Given the description of an element on the screen output the (x, y) to click on. 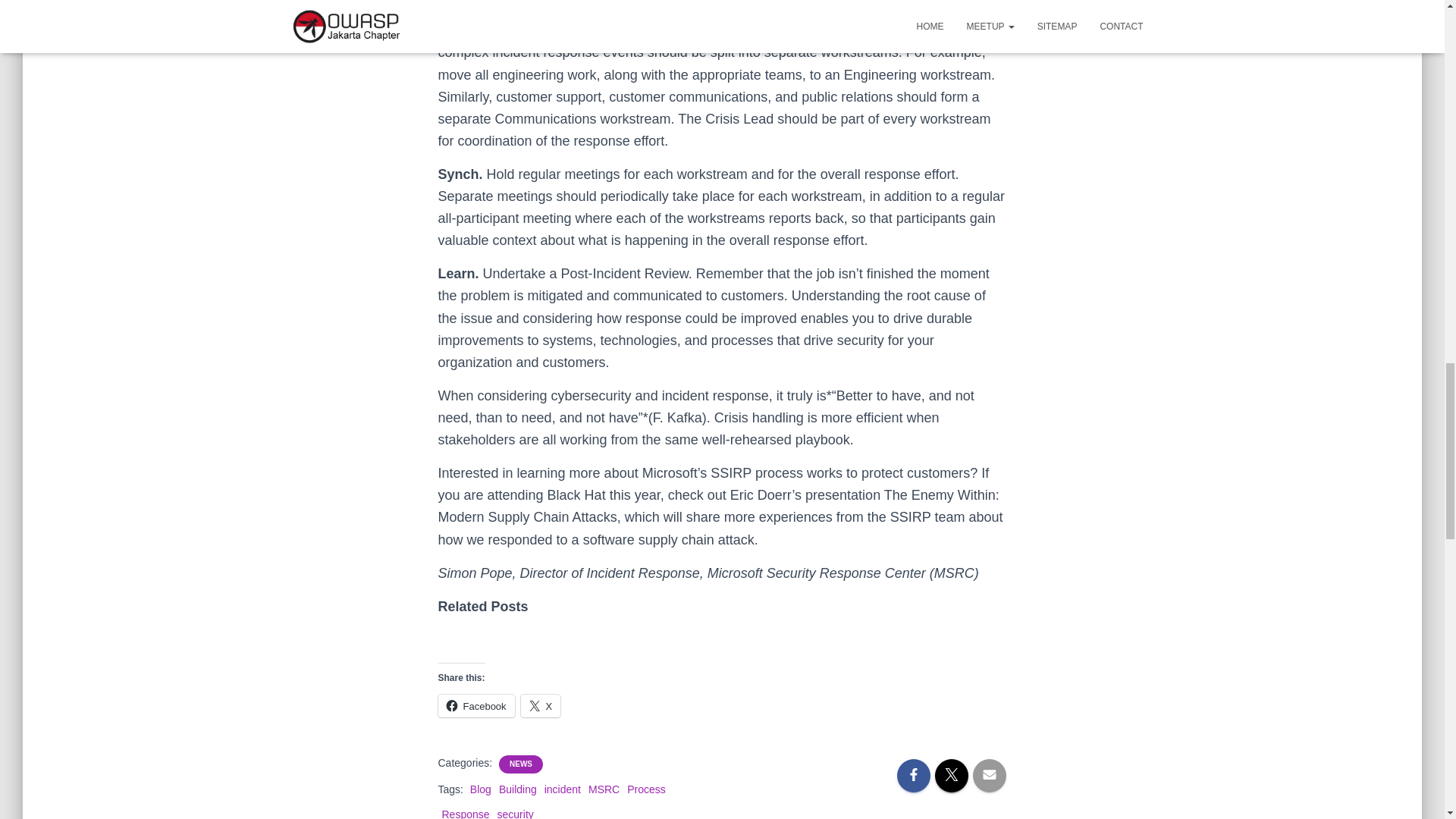
MSRC (604, 788)
Process (646, 788)
Facebook (476, 705)
security (515, 813)
X (540, 705)
Click to share on X (540, 705)
Building (518, 788)
Response (465, 813)
NEWS (521, 764)
incident (562, 788)
Click to share on Facebook (476, 705)
Blog (481, 788)
